Given the description of an element on the screen output the (x, y) to click on. 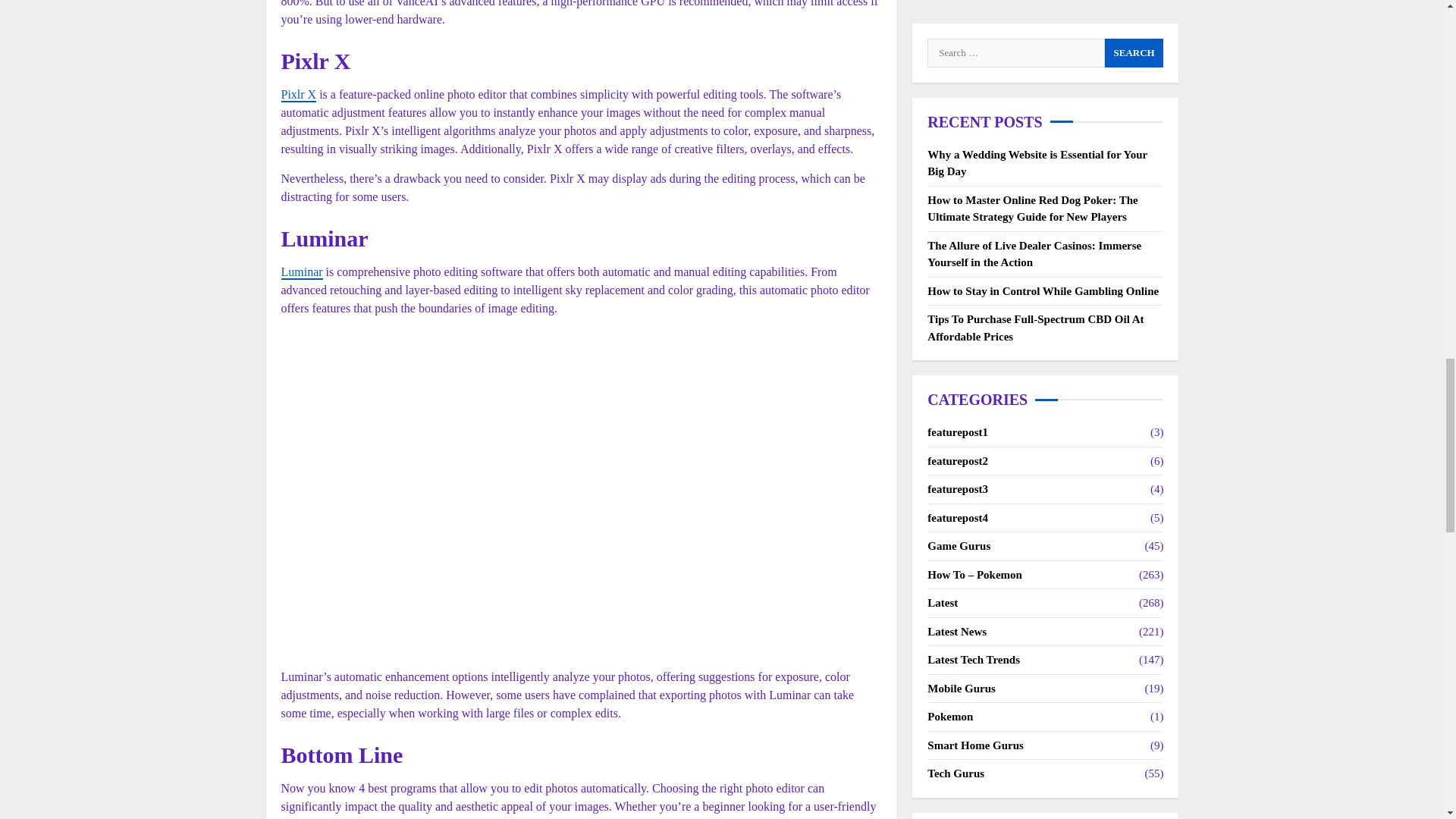
Luminar (301, 272)
Pixlr X (298, 94)
